Given the description of an element on the screen output the (x, y) to click on. 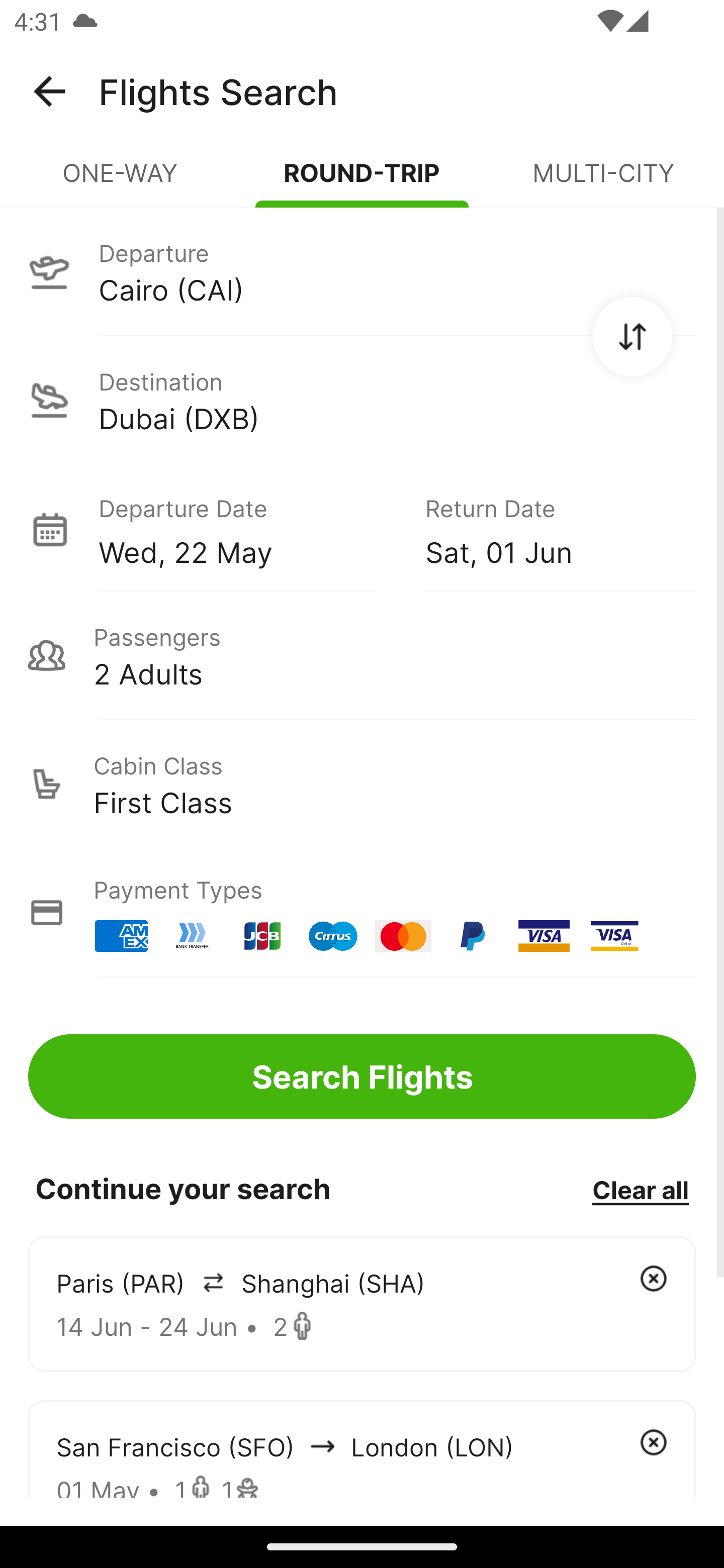
ONE-WAY (120, 180)
ROUND-TRIP (361, 180)
MULTI-CITY (603, 180)
Departure Cairo (CAI) (362, 270)
Destination Dubai (DXB) (362, 400)
Departure Date Wed, 22 May (247, 528)
Return Date Sat, 01 Jun (546, 528)
Passengers 2 Adults (362, 655)
Cabin Class First Class (362, 783)
Payment Types (362, 912)
Search Flights (361, 1075)
Clear all (640, 1189)
